Given the description of an element on the screen output the (x, y) to click on. 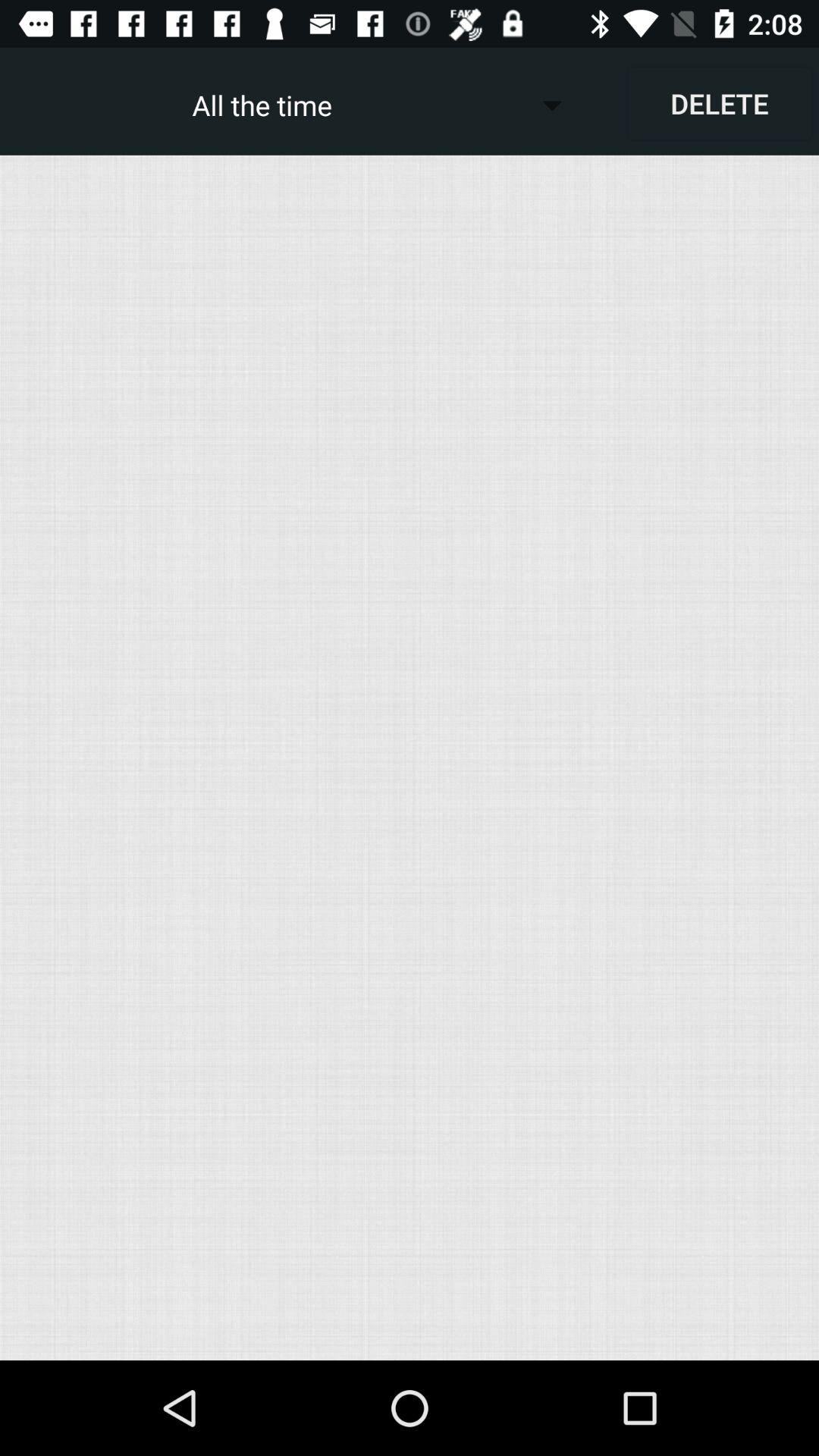
turn off the item below the delete item (409, 757)
